Given the description of an element on the screen output the (x, y) to click on. 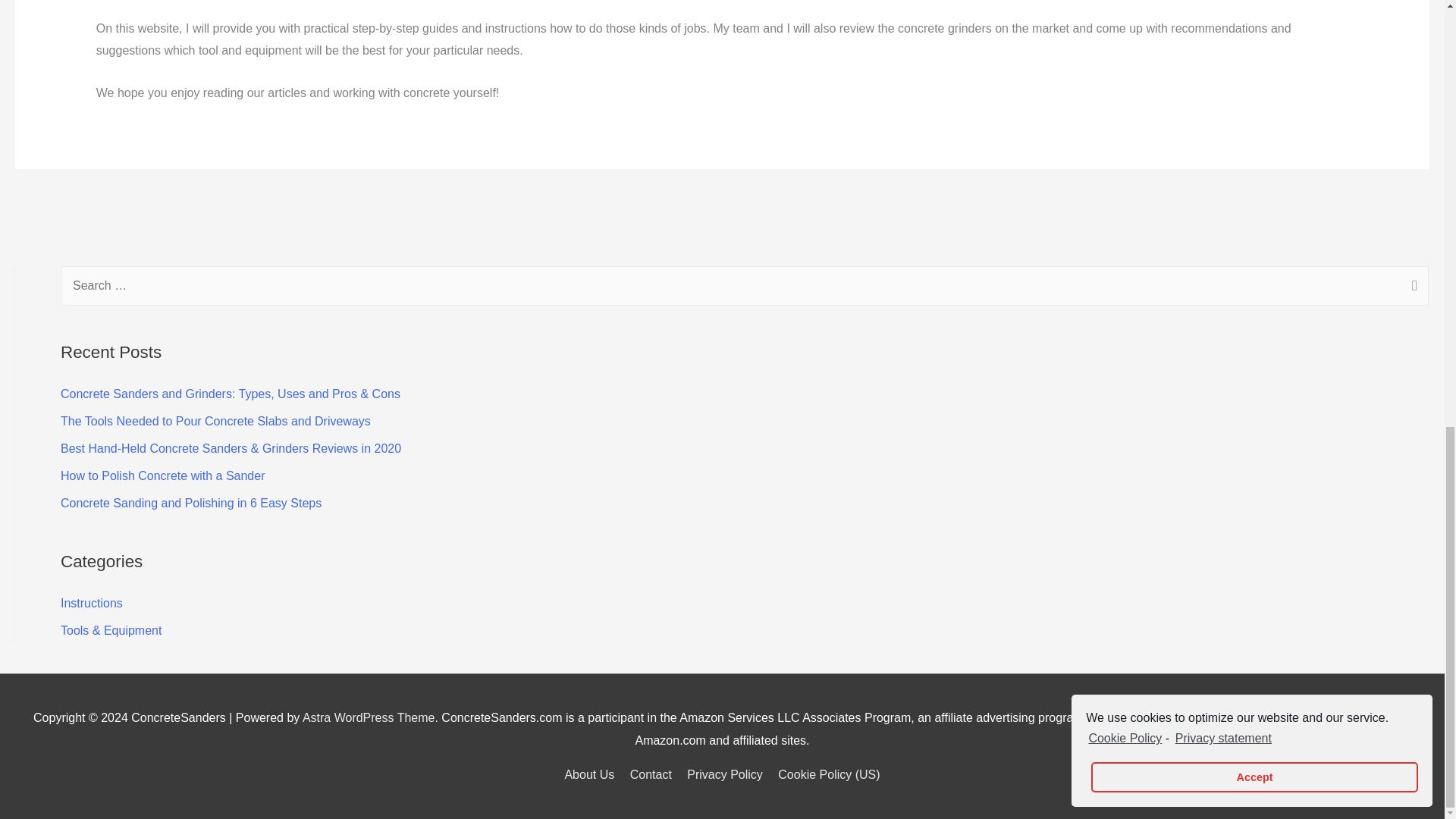
Concrete Sanding and Polishing in 6 Easy Steps (191, 502)
About Us (592, 774)
Contact (651, 774)
Instructions (91, 603)
The Tools Needed to Pour Concrete Slabs and Driveways (216, 420)
Privacy Policy (724, 774)
Astra WordPress Theme (368, 717)
How to Polish Concrete with a Sander (162, 475)
